Given the description of an element on the screen output the (x, y) to click on. 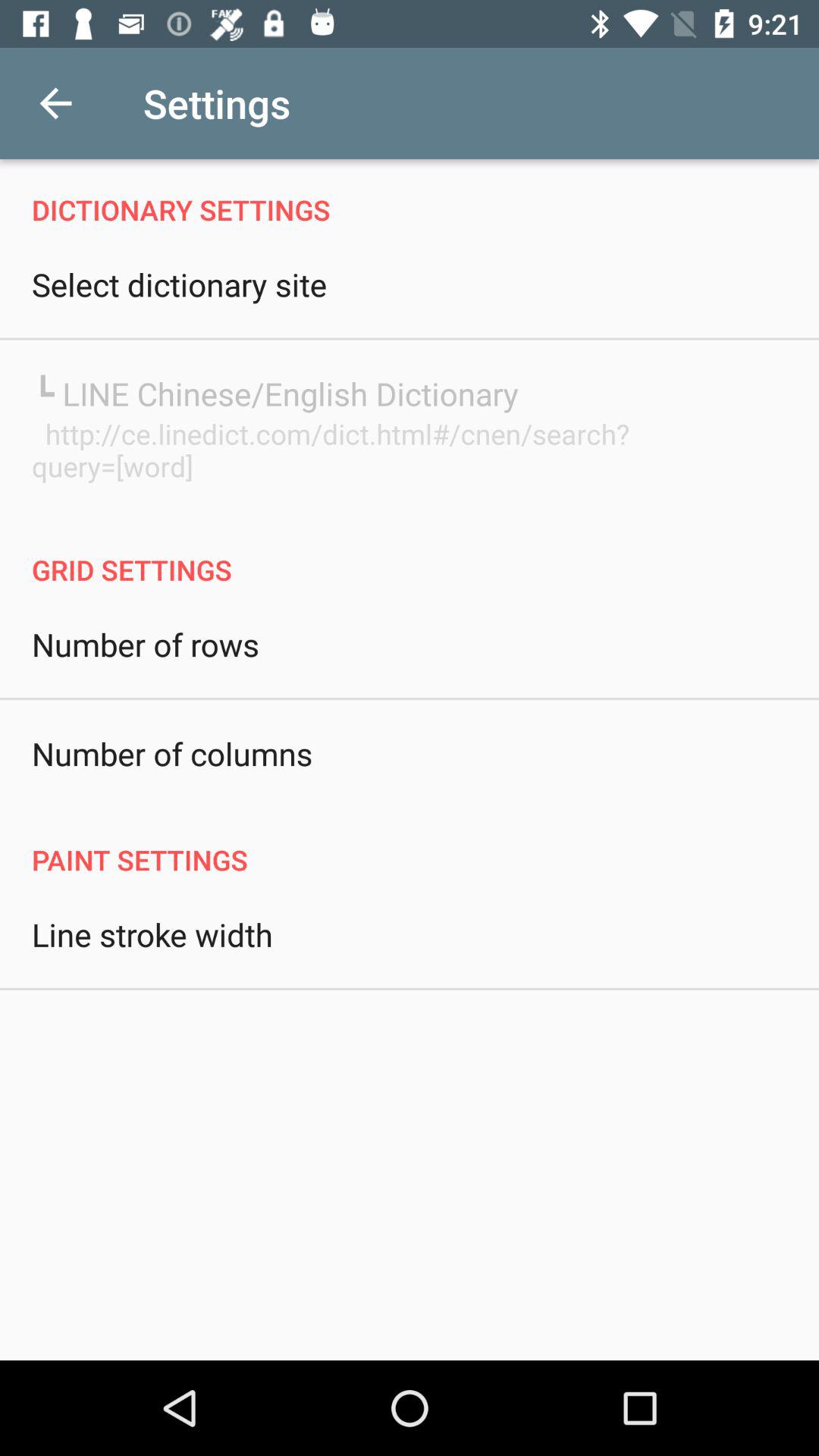
select the icon below number of columns (409, 843)
